Given the description of an element on the screen output the (x, y) to click on. 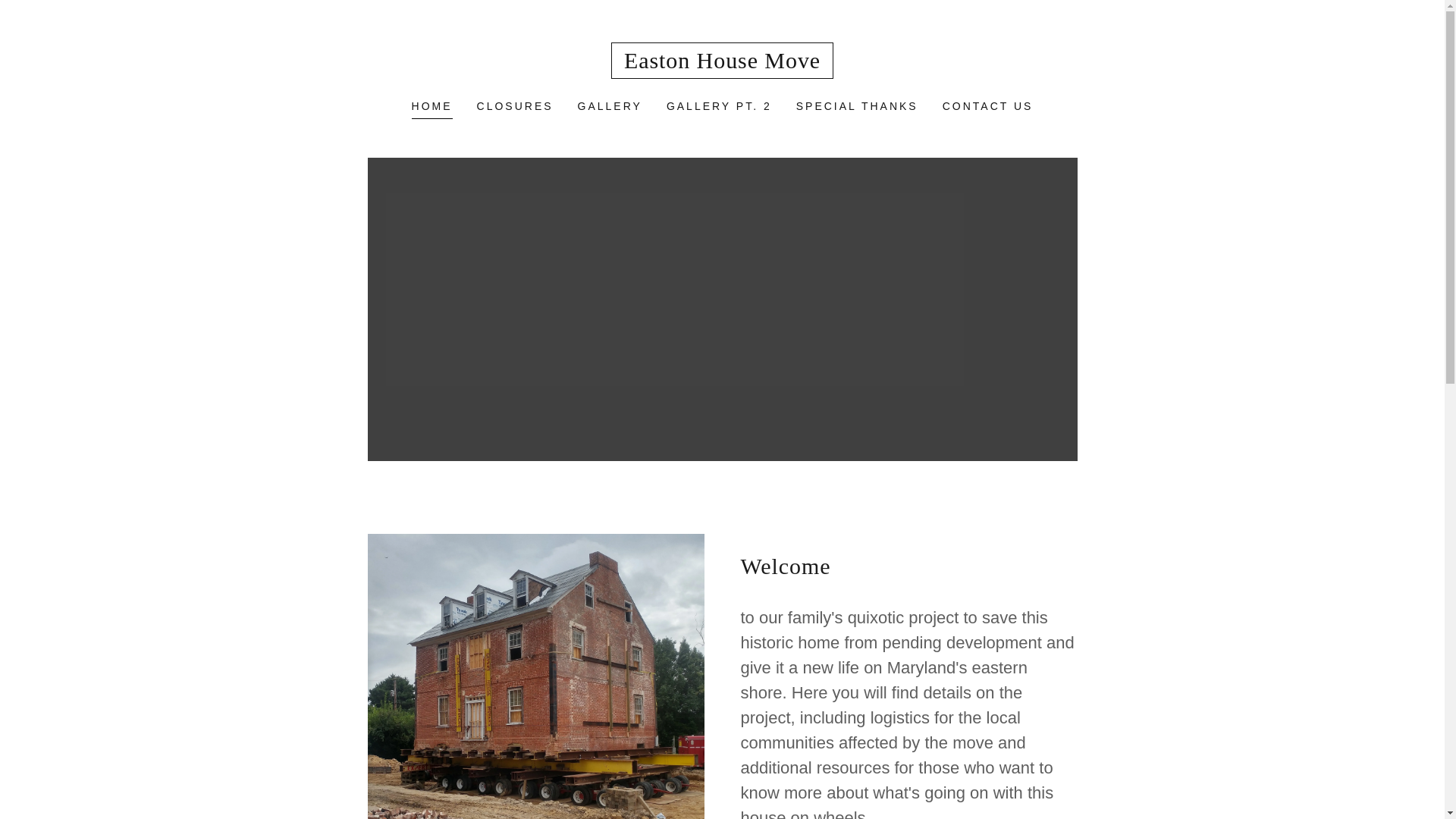
Easton House Move (721, 63)
SPECIAL THANKS (857, 105)
CONTACT US (987, 105)
GALLERY (609, 105)
HOME (432, 107)
GALLERY PT. 2 (719, 105)
CLOSURES (514, 105)
Easton House Move (721, 63)
